Given the description of an element on the screen output the (x, y) to click on. 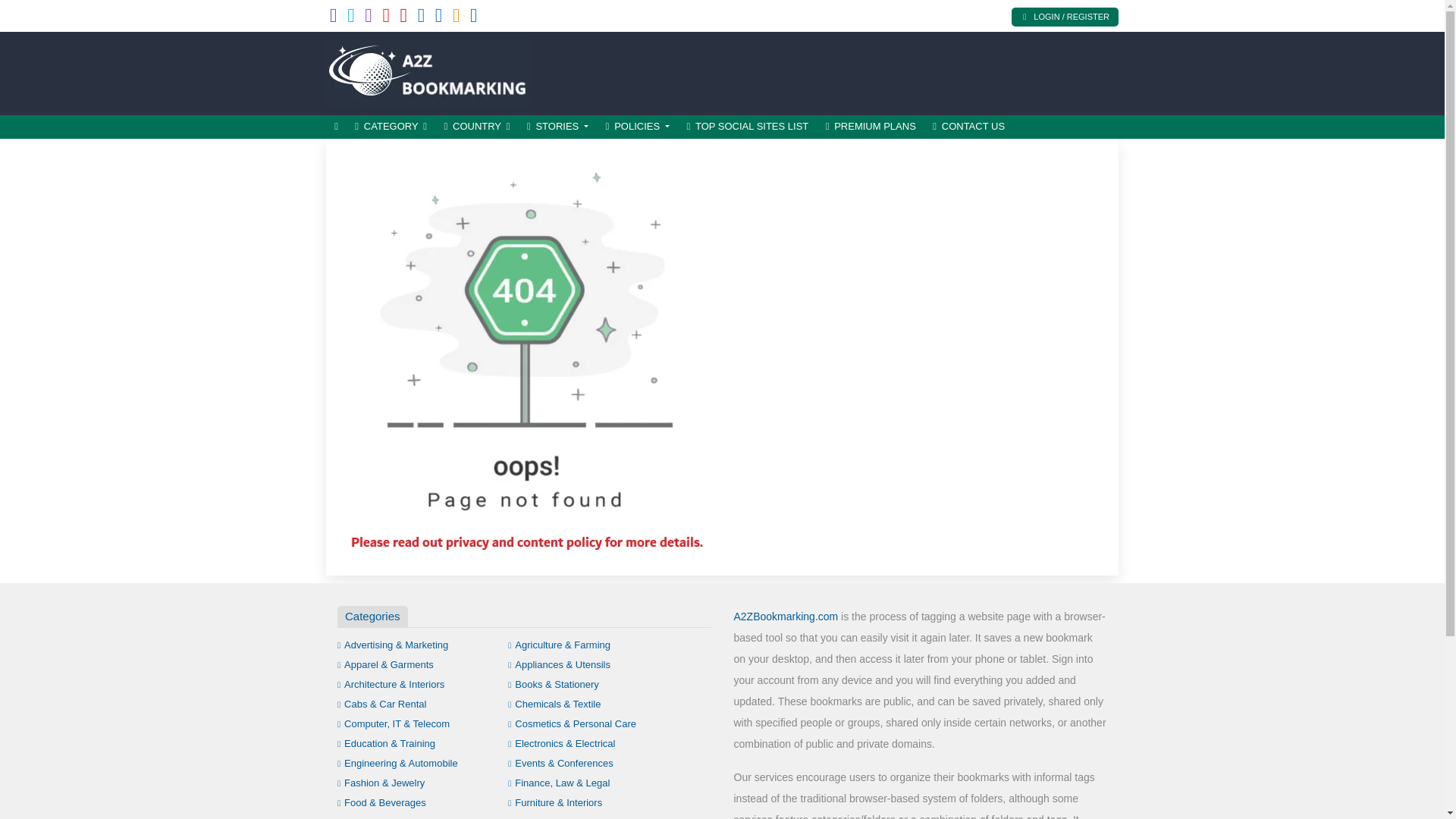
Submit Quality Articles to Dofollow Social Bookmarking Site (428, 71)
CATEGORY (390, 126)
